Given the description of an element on the screen output the (x, y) to click on. 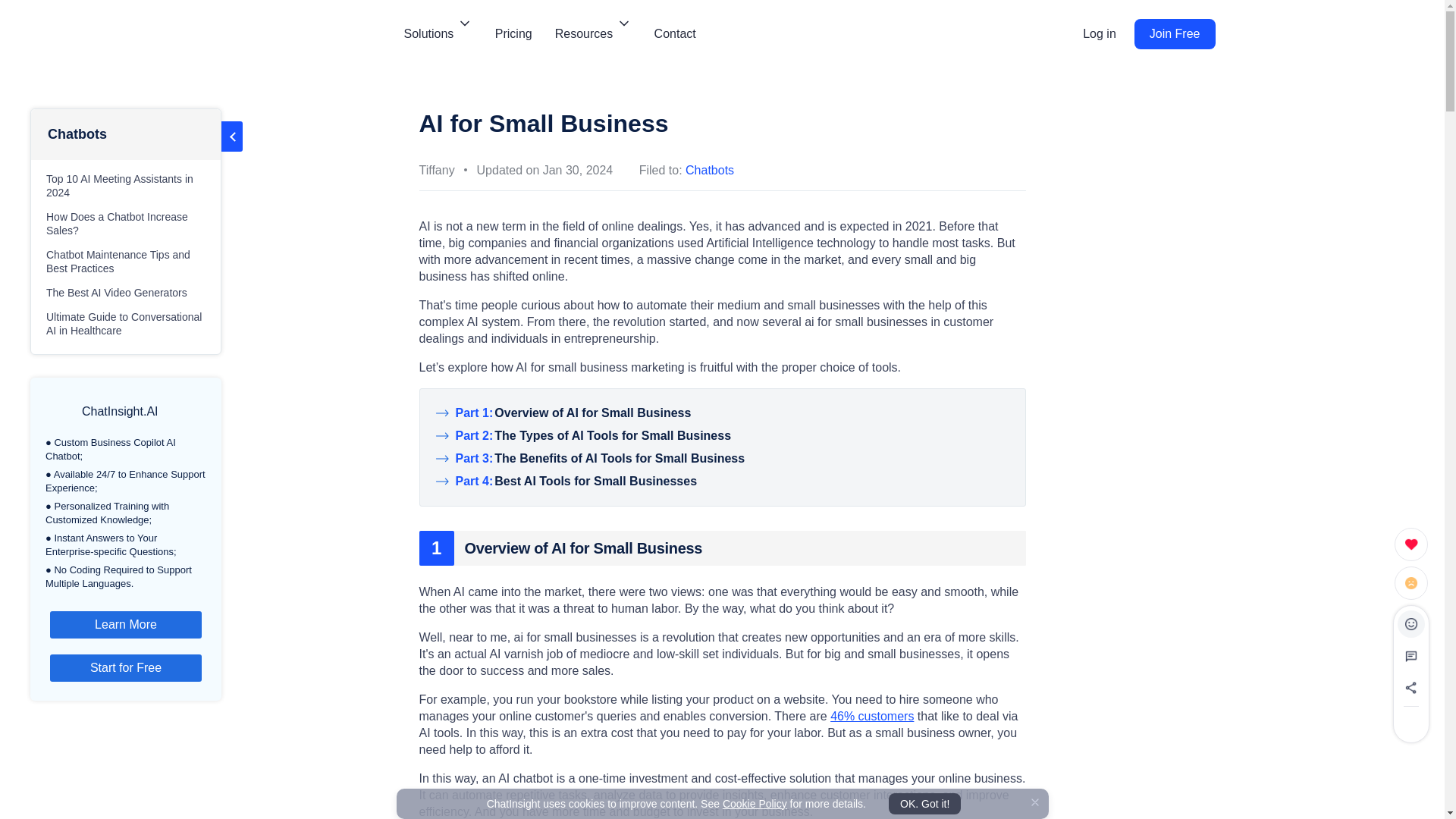
Learn More (125, 624)
Join Free (1174, 33)
How Does a Chatbot Increase Sales? (125, 223)
Resources (592, 33)
Chatbot Maintenance Tips and Best Practices (125, 261)
How Does a Chatbot Increase Sales? (125, 223)
Top 10 AI Meeting Assistants in 2024 (125, 185)
Solutions (437, 33)
Ultimate Guide to Conversational AI in Healthcare (125, 323)
Ultimate Guide to Conversational AI in Healthcare (125, 323)
Log in (1099, 34)
The Best AI Video Generators (125, 292)
Top 10 AI Meeting Assistants in 2024 (125, 185)
The Best AI Video Generators (125, 292)
